Given the description of an element on the screen output the (x, y) to click on. 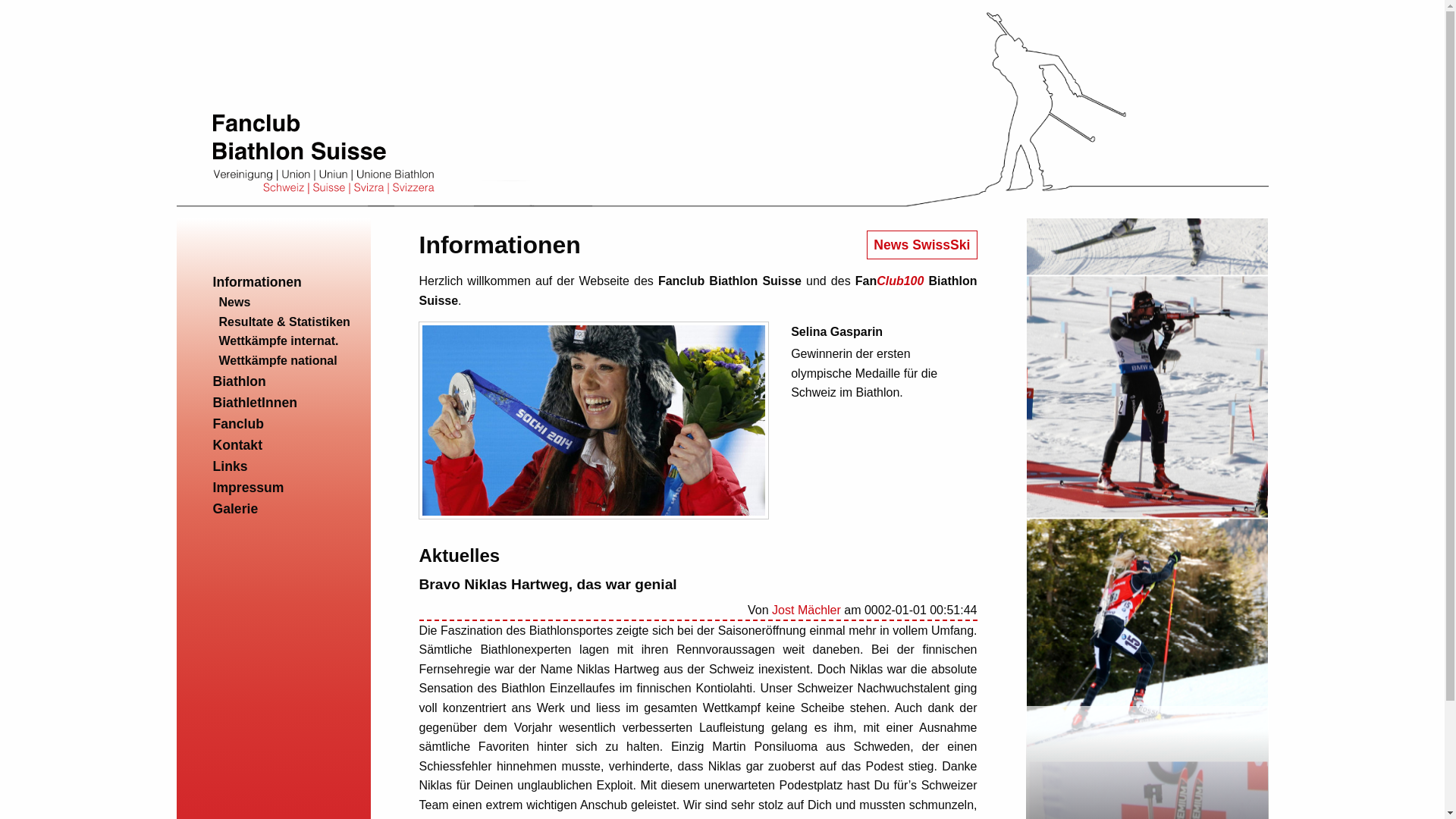
News SwissSki Element type: text (921, 244)
Kontakt Element type: text (237, 444)
Fanclub Element type: text (237, 423)
Biathlon Element type: text (238, 381)
BiathletInnen Element type: text (254, 402)
Impressum Element type: text (247, 487)
Informationen Element type: text (256, 281)
Resultate & Statistiken Element type: text (283, 321)
Next Element type: text (1279, 581)
Previous Element type: text (1014, 581)
News Element type: text (234, 301)
Galerie Element type: text (234, 508)
Links Element type: text (229, 465)
